Given the description of an element on the screen output the (x, y) to click on. 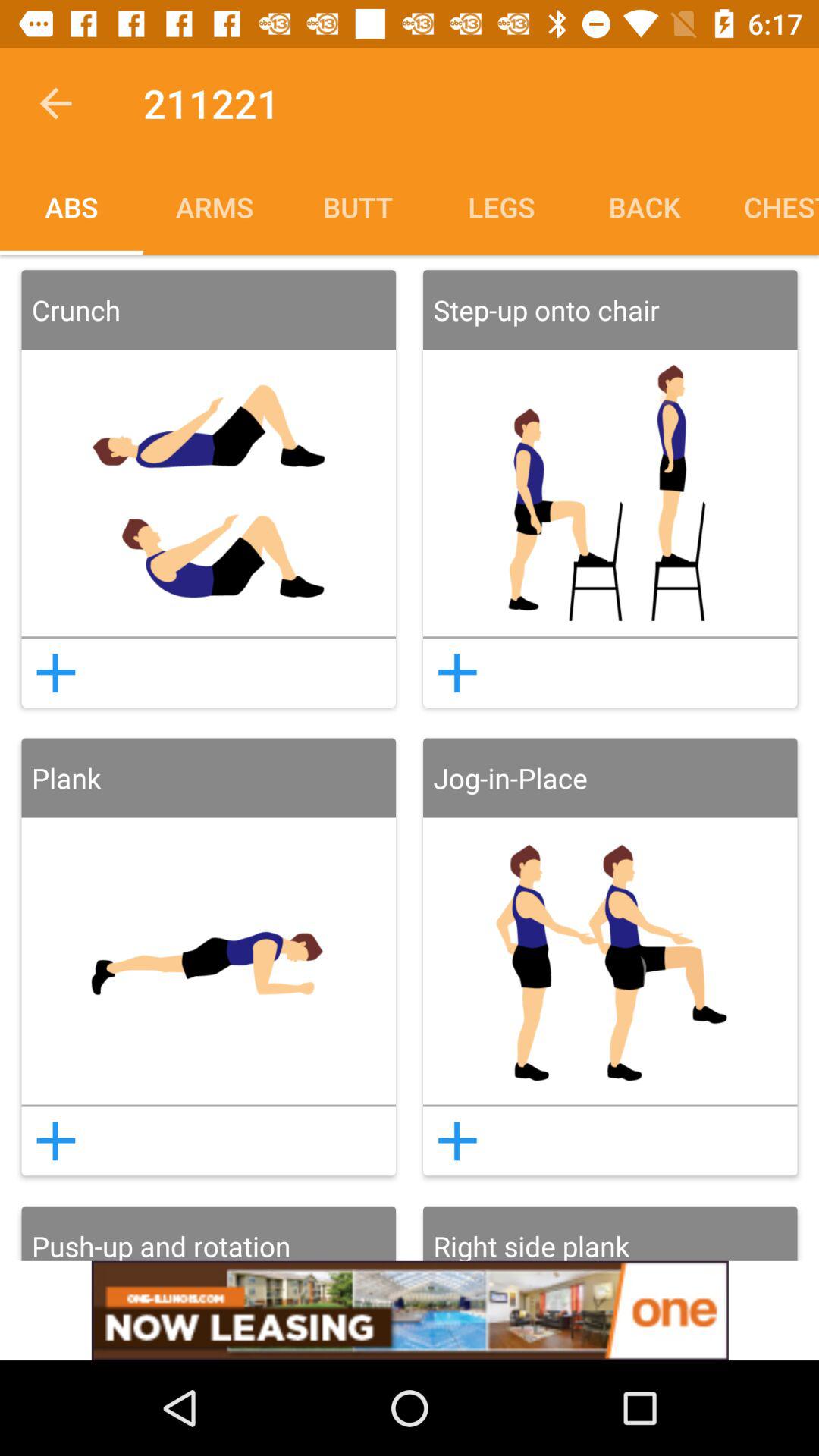
increment button (55, 672)
